Given the description of an element on the screen output the (x, y) to click on. 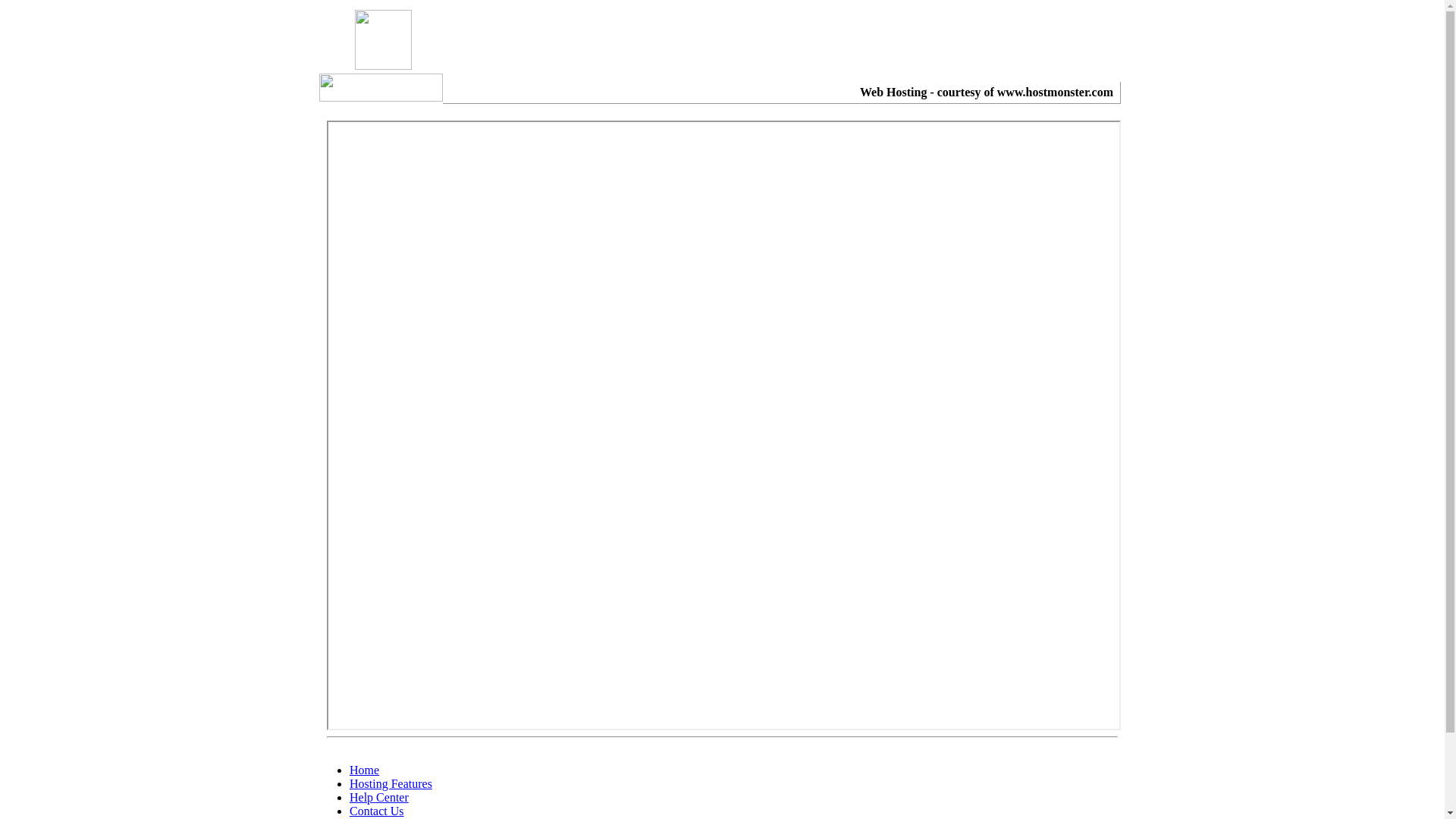
Hosting Features Element type: text (390, 783)
Contact Us Element type: text (376, 810)
Web Hosting - courtesy of www.hostmonster.com Element type: text (986, 91)
Help Center Element type: text (378, 796)
Home Element type: text (364, 769)
